Given the description of an element on the screen output the (x, y) to click on. 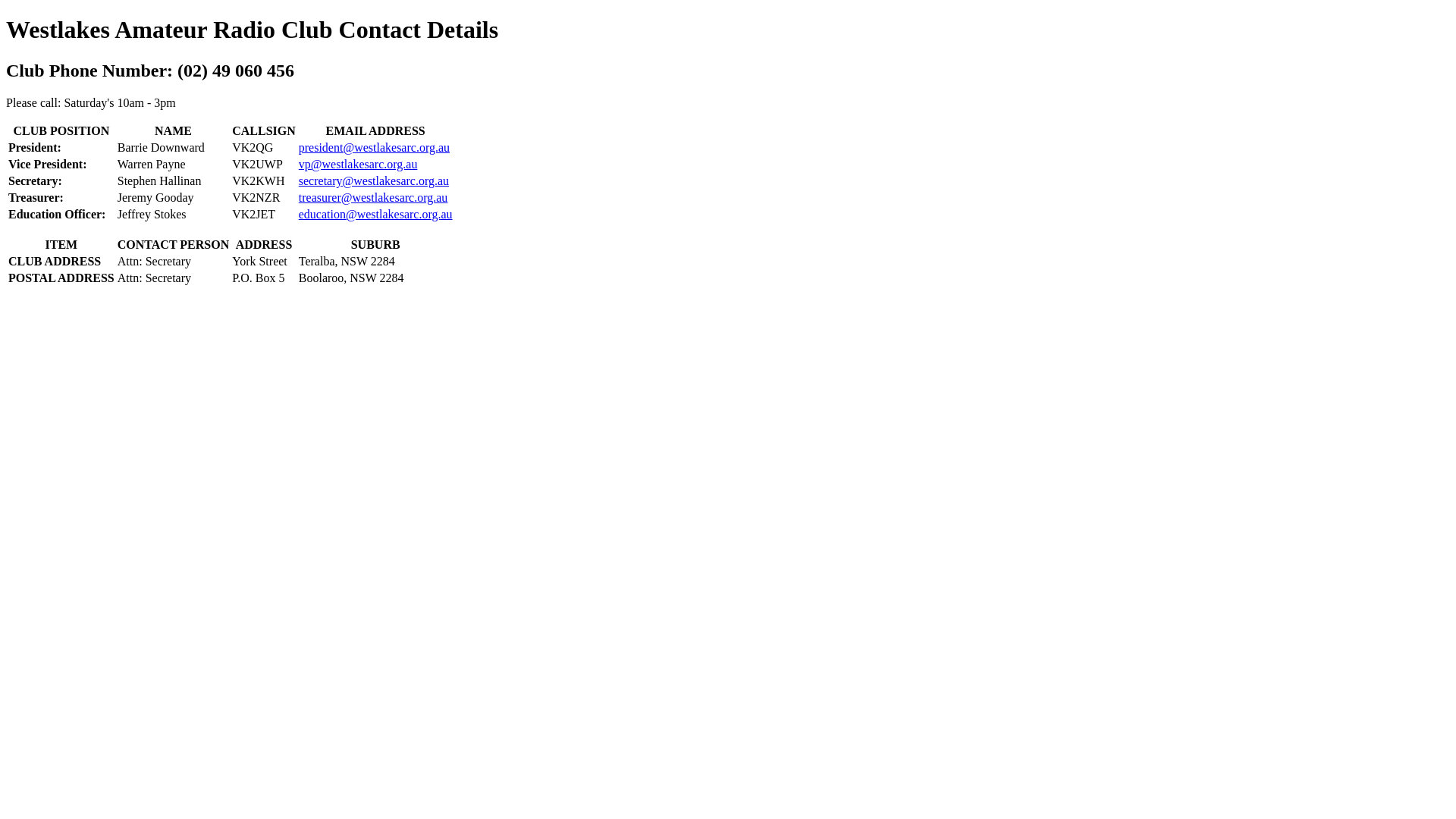
president@westlakesarc.org.au Element type: text (373, 147)
education@westlakesarc.org.au Element type: text (375, 213)
treasurer@westlakesarc.org.au Element type: text (373, 197)
vp@westlakesarc.org.au Element type: text (357, 163)
secretary@westlakesarc.org.au Element type: text (373, 180)
